Given the description of an element on the screen output the (x, y) to click on. 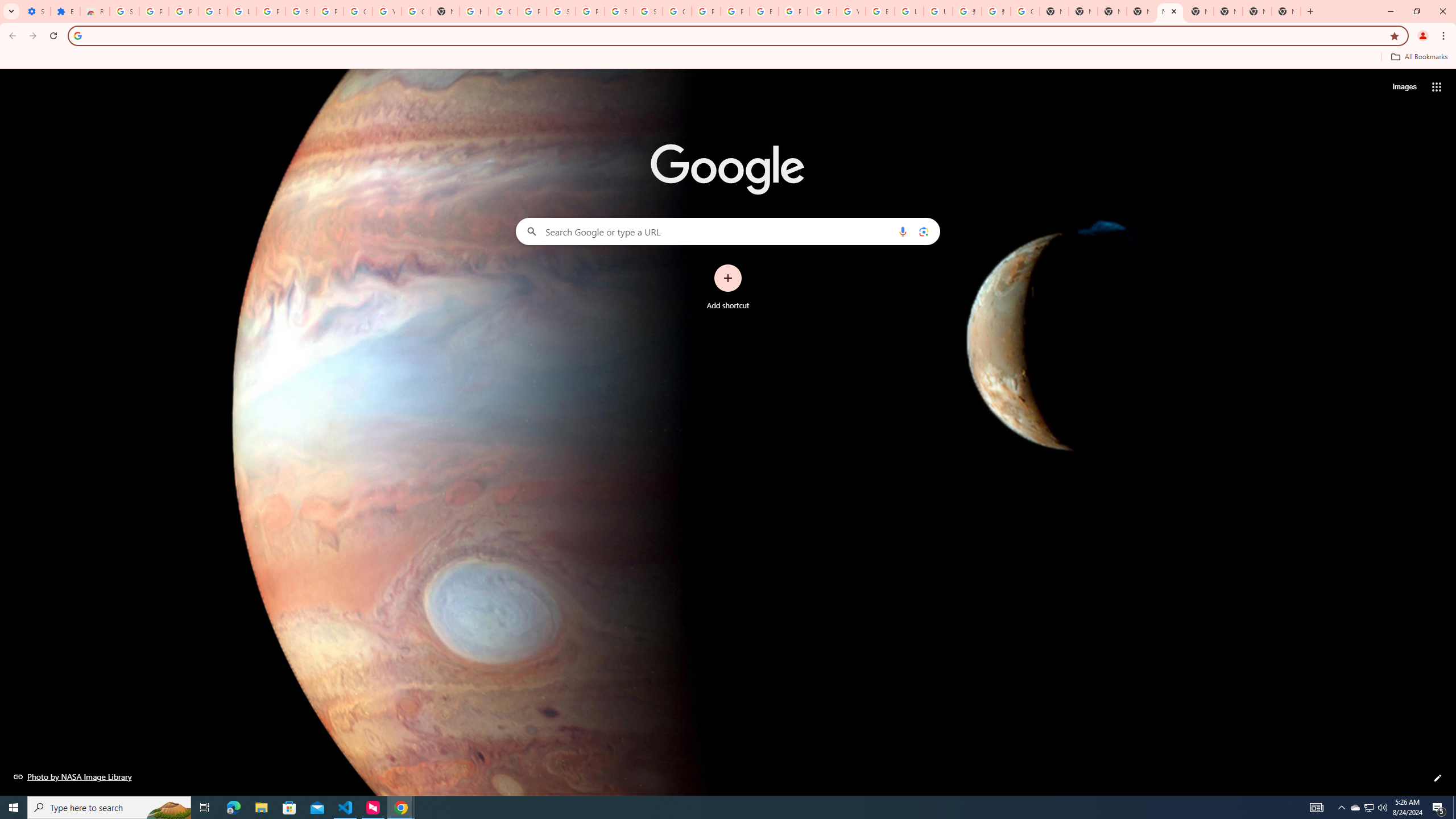
Sign in - Google Accounts (619, 11)
